Given the description of an element on the screen output the (x, y) to click on. 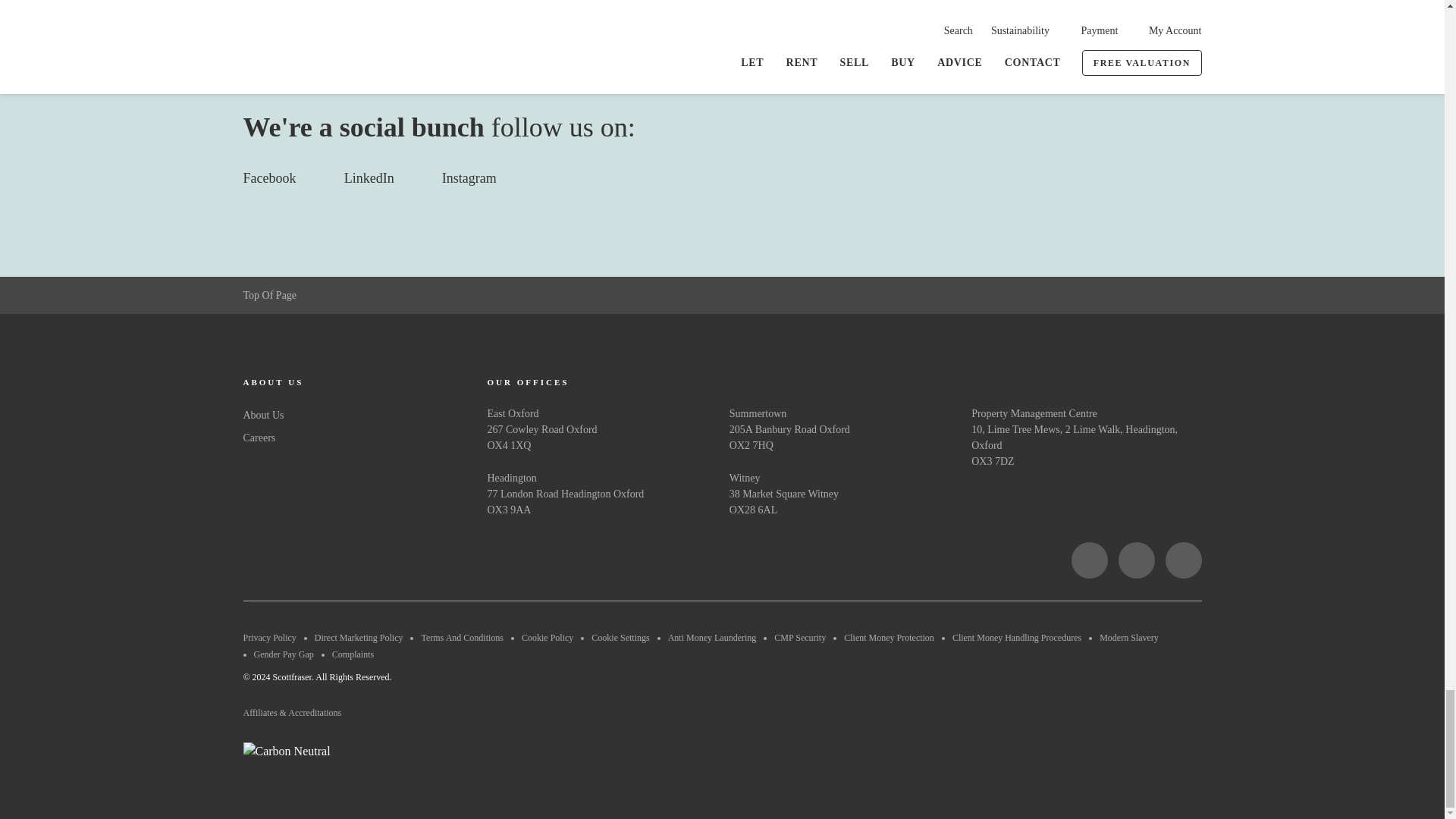
Scottfraser (315, 559)
Facebook (1088, 560)
Linkedin (1136, 560)
